Given the description of an element on the screen output the (x, y) to click on. 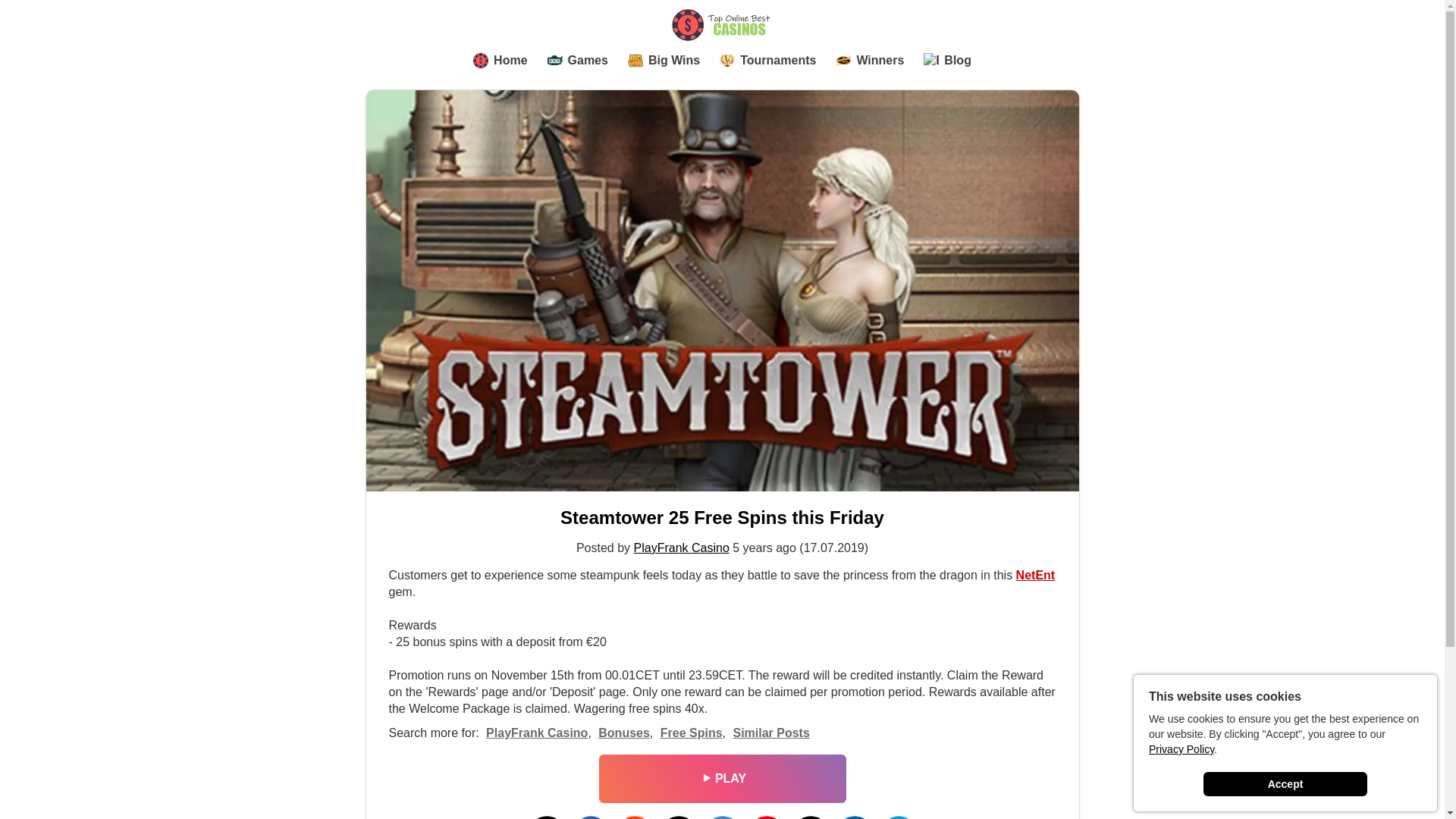
PlayFrank Casino (681, 547)
Bonuses (623, 732)
Steamtower 25 Free Spins this Friday Site (721, 516)
Privacy Policy (1181, 748)
Check out the latest big wins (869, 61)
Search for Similar Posts (770, 732)
Best Online Casinos with Slots Games (1035, 574)
Similar Posts (770, 732)
PlayFrank Casino (537, 732)
Share on Tumblr (677, 817)
Steamtower 25 Free Spins this Friday (721, 516)
Online Casino Demo Games (577, 61)
Blog (946, 61)
Big Wins (663, 61)
Online Casino Tournaments (767, 61)
